Given the description of an element on the screen output the (x, y) to click on. 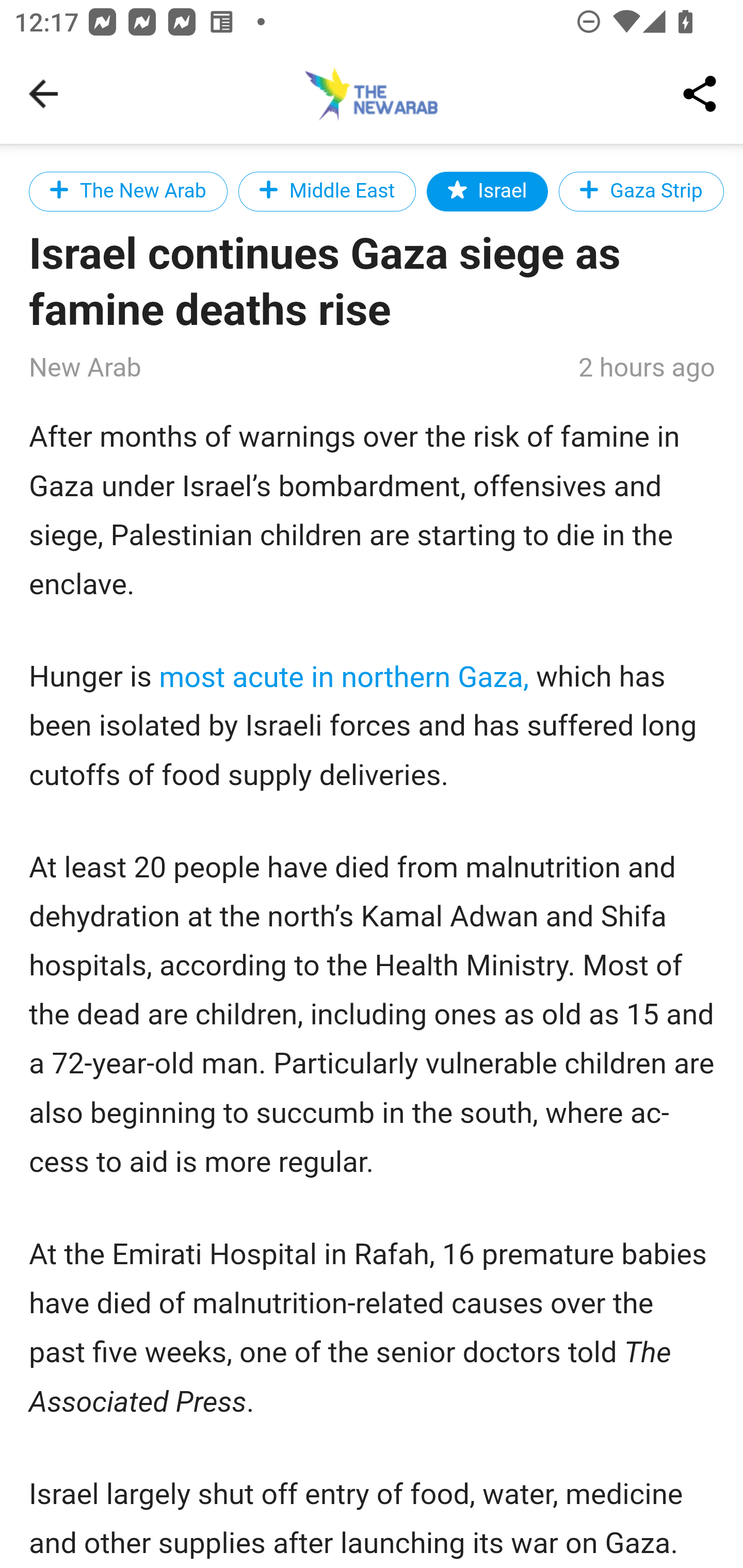
The New Arab (128, 191)
Middle East (326, 191)
Israel (487, 191)
Gaza Strip (640, 191)
most acute in northern Gaza, (345, 676)
